Given the description of an element on the screen output the (x, y) to click on. 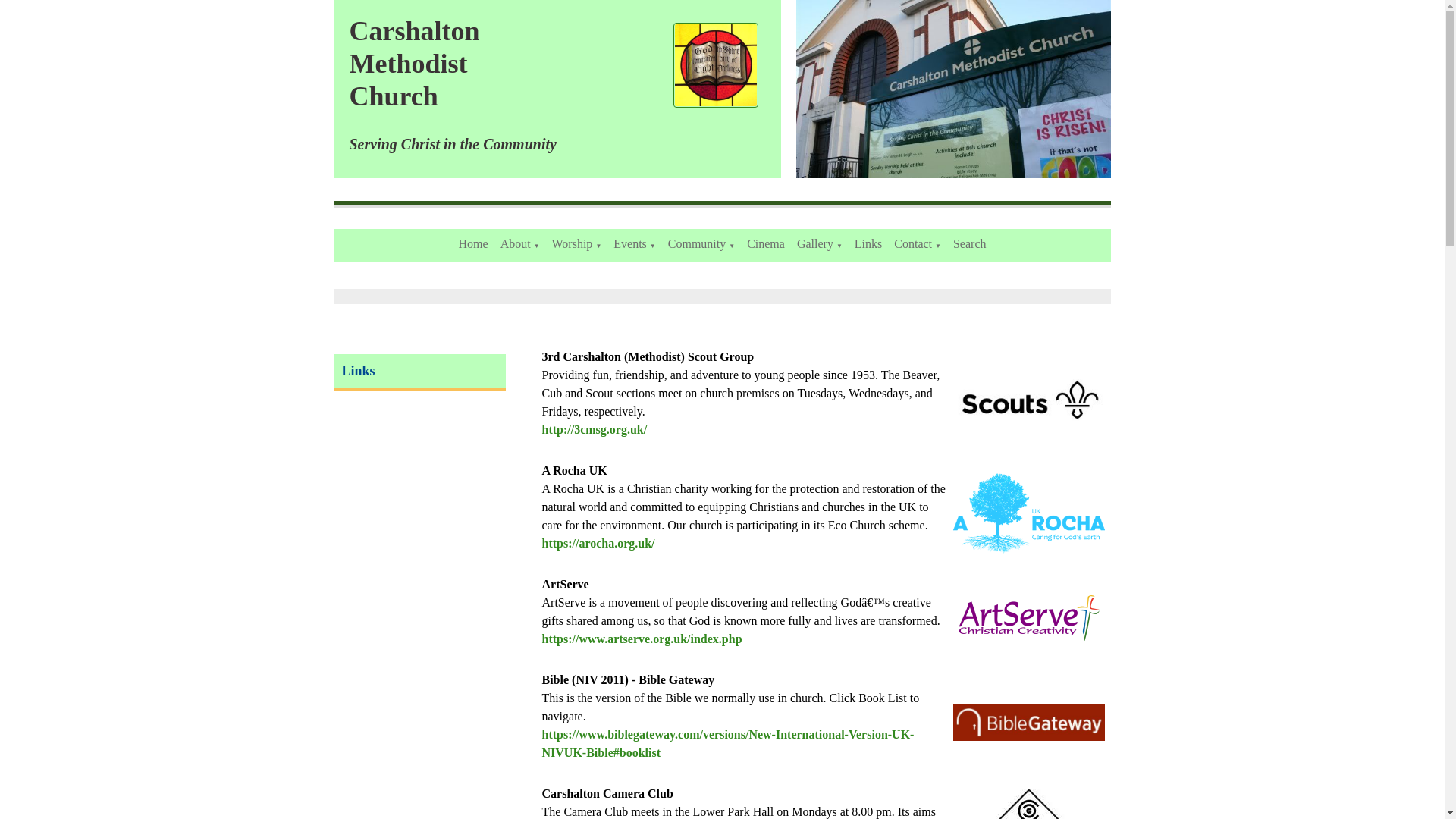
Click to go to the home page (715, 64)
